Given the description of an element on the screen output the (x, y) to click on. 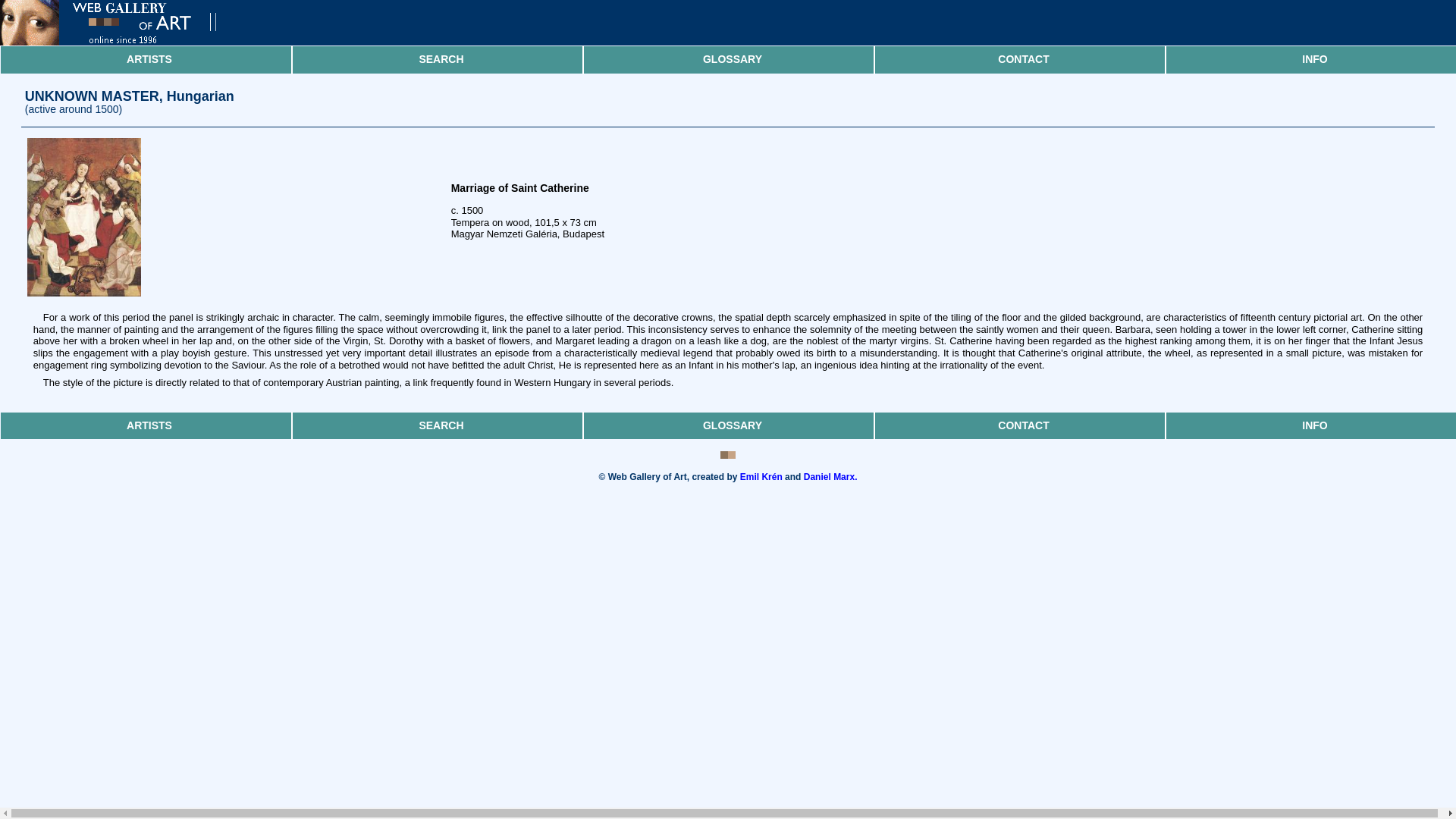
ARTISTS (149, 59)
SEARCH (441, 59)
ARTISTS (149, 425)
Daniel Marx. (830, 476)
GLOSSARY (732, 59)
SEARCH (441, 425)
GLOSSARY (732, 425)
CONTACT (1024, 59)
Go to title page (121, 41)
CONTACT (1024, 425)
